Given the description of an element on the screen output the (x, y) to click on. 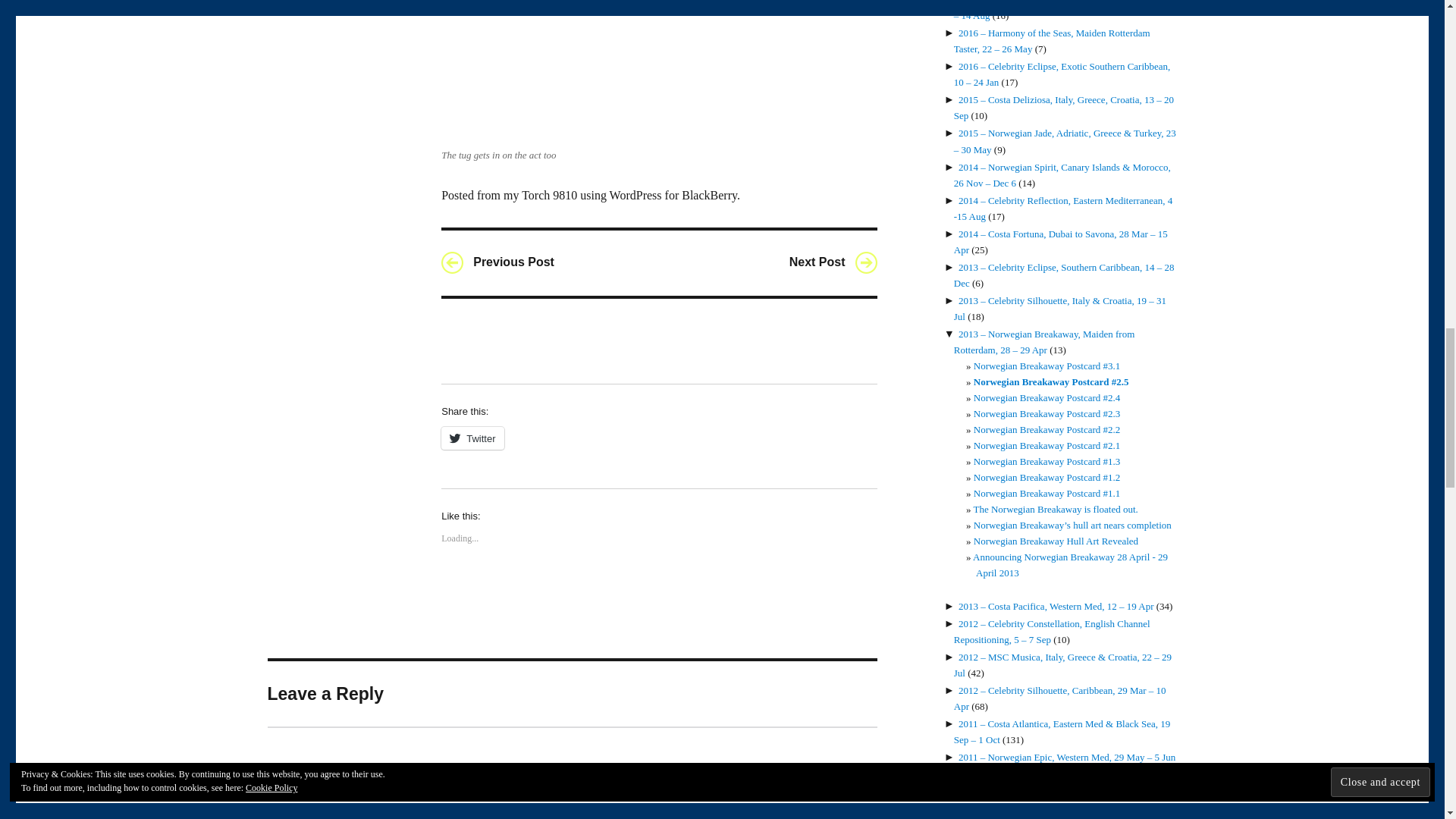
Comment Form (571, 772)
Click to share on Twitter (472, 437)
